Given the description of an element on the screen output the (x, y) to click on. 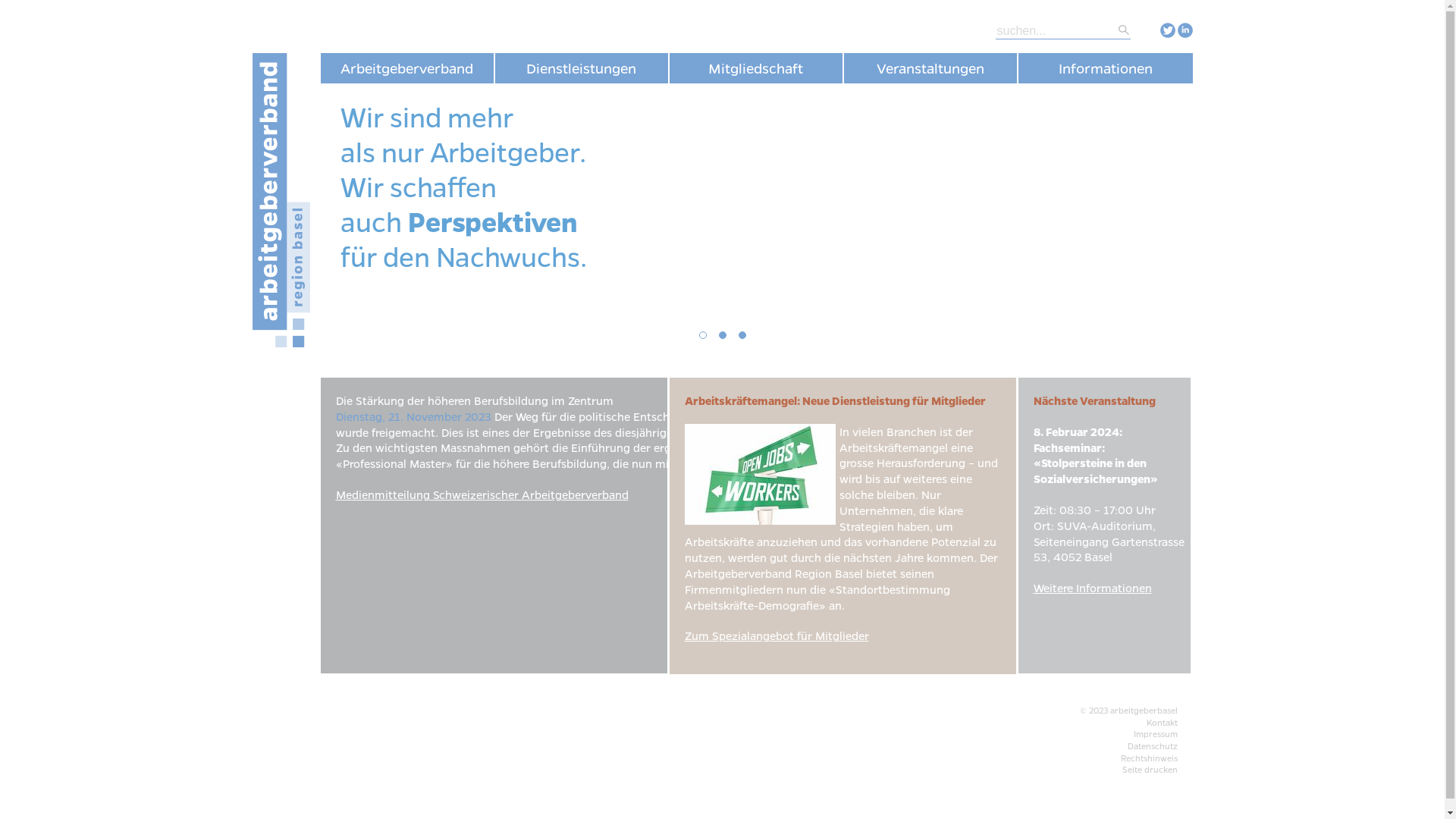
Seite drucken Element type: text (1149, 769)
Dienstleistungen Element type: text (580, 68)
Arbeitgeberverband Element type: text (406, 68)
Informationen Element type: text (1104, 68)
Kontakt Element type: text (1161, 722)
Impressum Element type: text (1154, 733)
Mitgliedschaft Element type: text (754, 68)
Veranstaltungen Element type: text (929, 68)
Medienmitteilung Schweizerischer Arbeitgeberverband Element type: text (481, 494)
Rechtshinweis Element type: text (1148, 757)
Weitere Informationen Element type: text (1091, 587)
Datenschutz Element type: text (1151, 745)
